Given the description of an element on the screen output the (x, y) to click on. 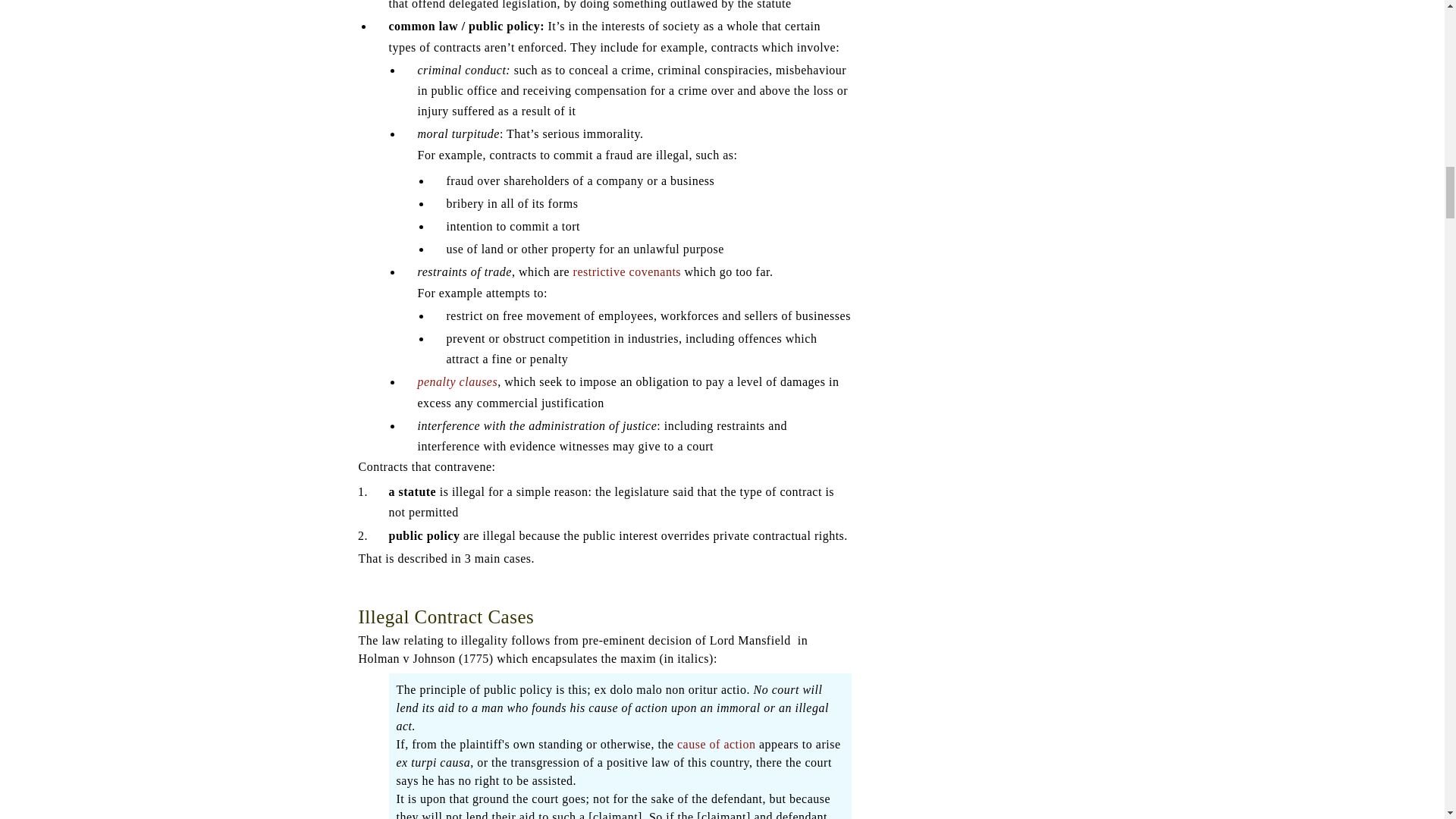
restrictive covenants (627, 271)
cause of action (716, 744)
penalty clauses (456, 381)
